Given the description of an element on the screen output the (x, y) to click on. 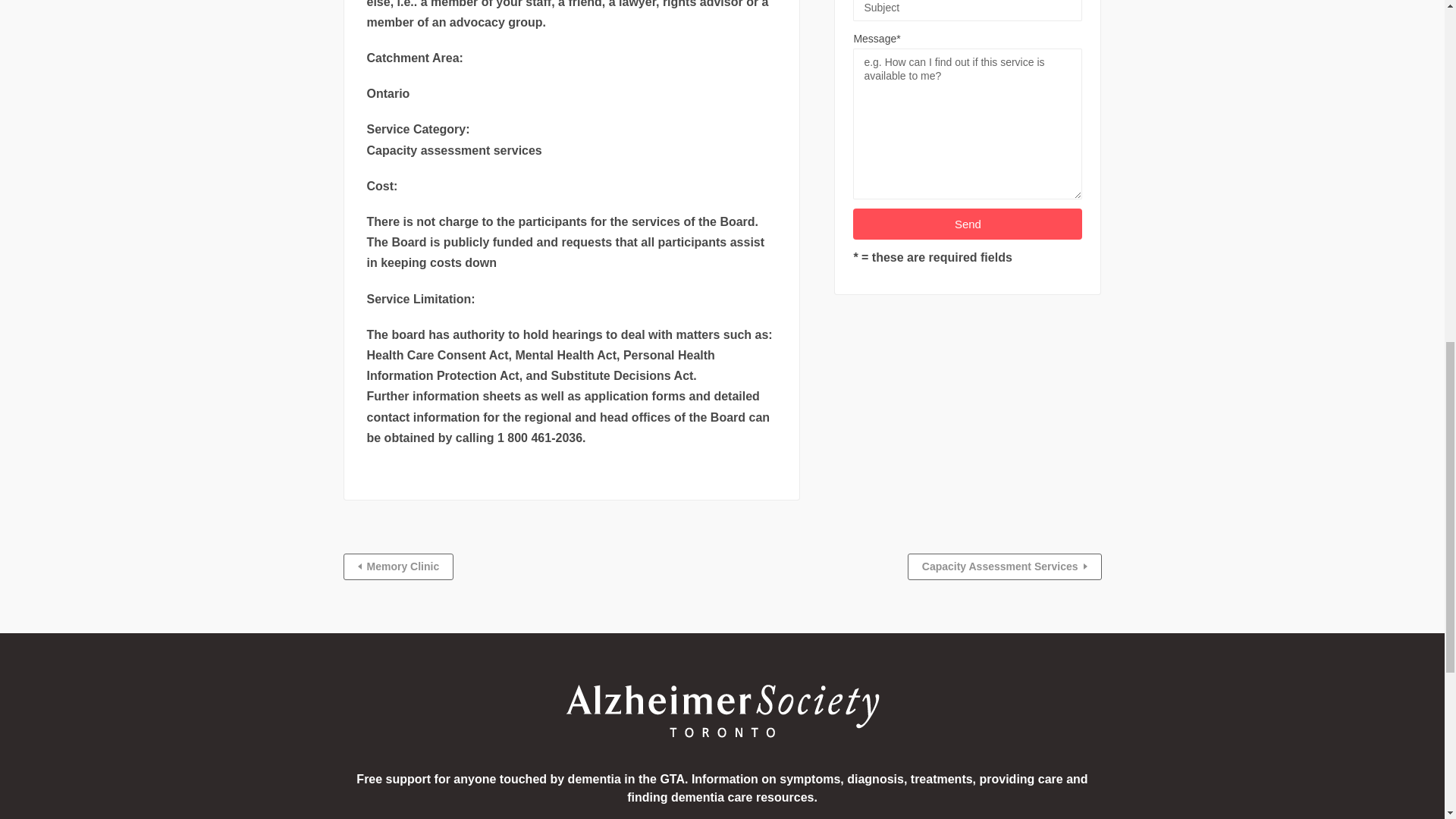
Send (967, 223)
Capacity Assessment Services (1004, 566)
Memory Clinic (397, 566)
Send (967, 223)
